Given the description of an element on the screen output the (x, y) to click on. 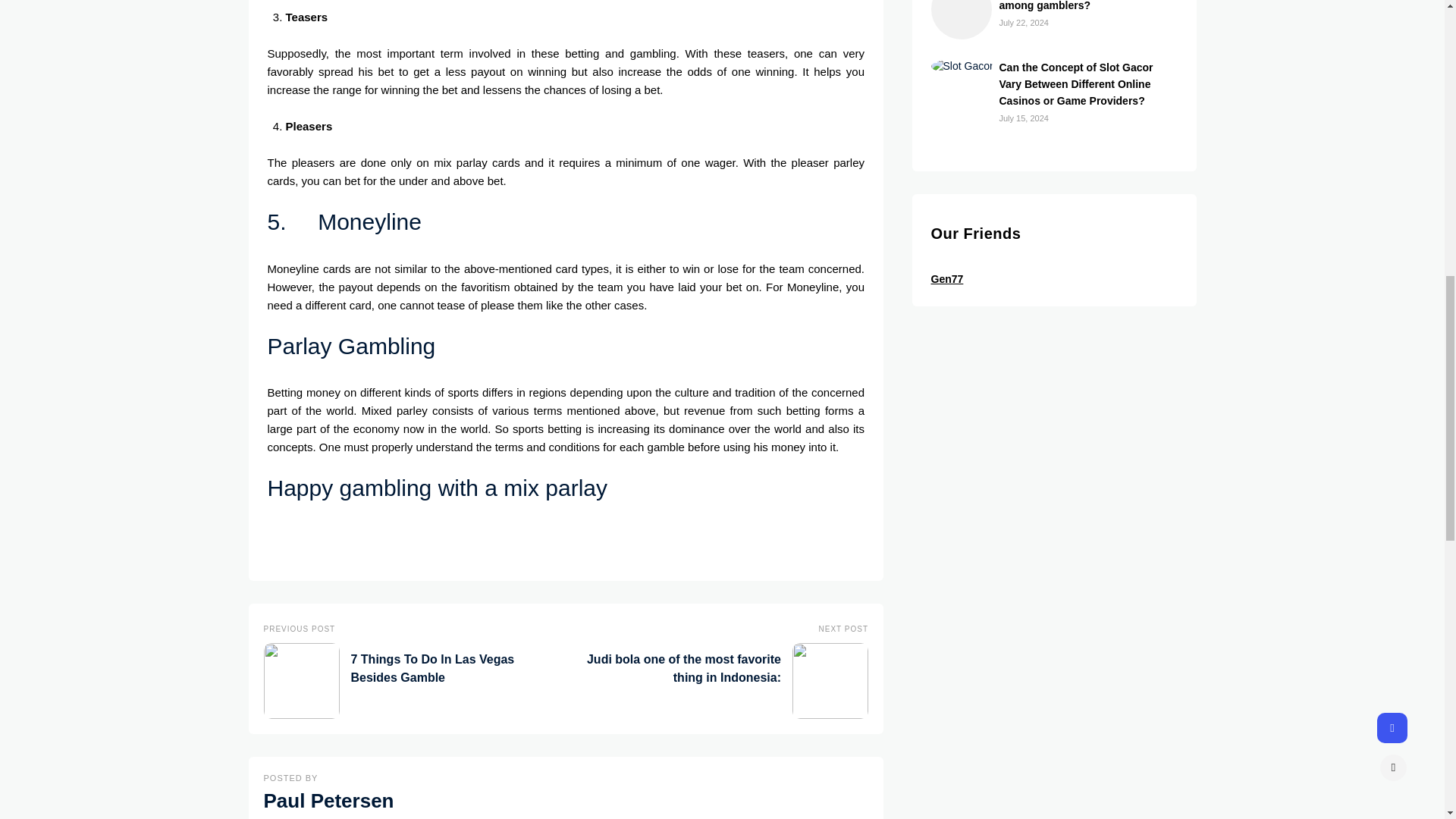
Paul Petersen (328, 800)
Why online slots are so popular among gamblers? (1079, 5)
Judi bola one of the most favorite thing in Indonesia: (723, 683)
Gen77 (947, 278)
7 Things To Do In Las Vegas Besides Gamble (407, 683)
